Given the description of an element on the screen output the (x, y) to click on. 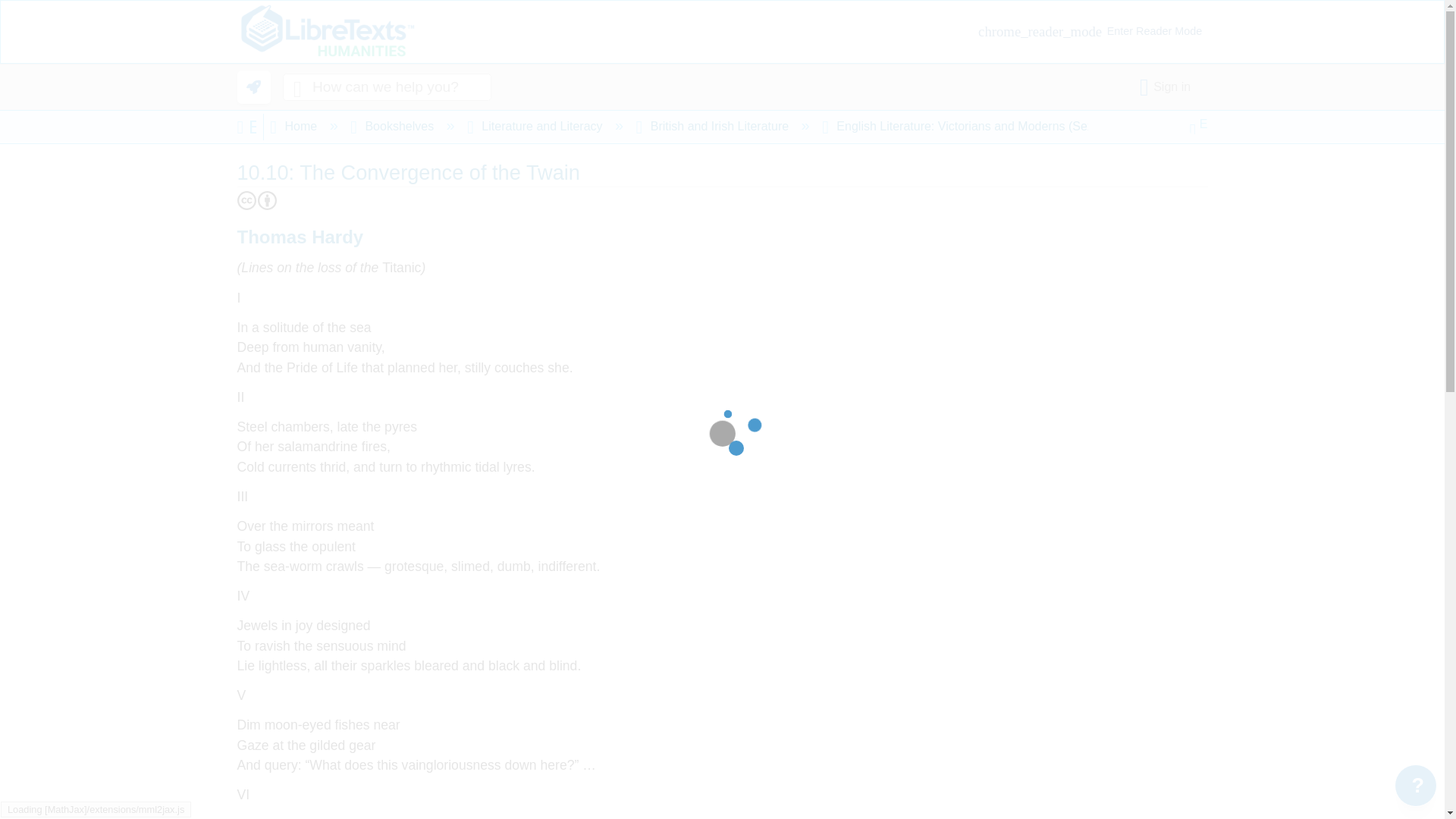
BY (266, 199)
CC (246, 199)
Single Sign-On (1167, 86)
